Given the description of an element on the screen output the (x, y) to click on. 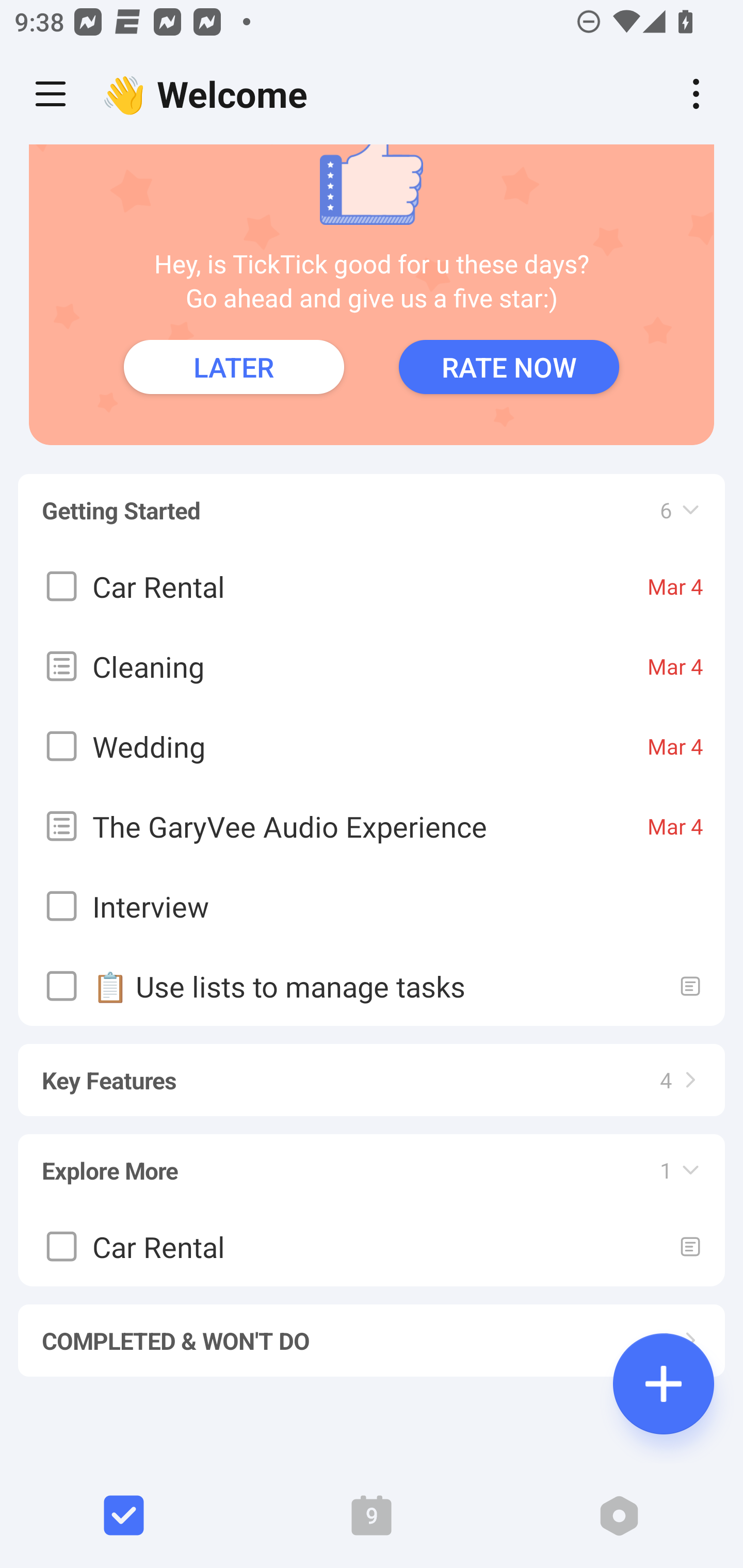
👋 Welcome (209, 93)
LATER (234, 366)
RATE NOW (508, 366)
Getting Started 6 (371, 500)
Car Rental Mar 4 (371, 585)
Mar 4 (675, 585)
Cleaning Mar 4 (371, 665)
Mar 4 (675, 665)
Wedding Mar 4 (371, 745)
Mar 4 (675, 745)
The GaryVee Audio Experience Mar 4 (371, 825)
Mar 4 (675, 825)
Interview (371, 905)
📋 Use lists to manage tasks (371, 985)
Key Features 4 (371, 1070)
Explore More 1 (371, 1160)
Car Rental (371, 1245)
COMPLETED & WON'T DO 2 (371, 1330)
